Given the description of an element on the screen output the (x, y) to click on. 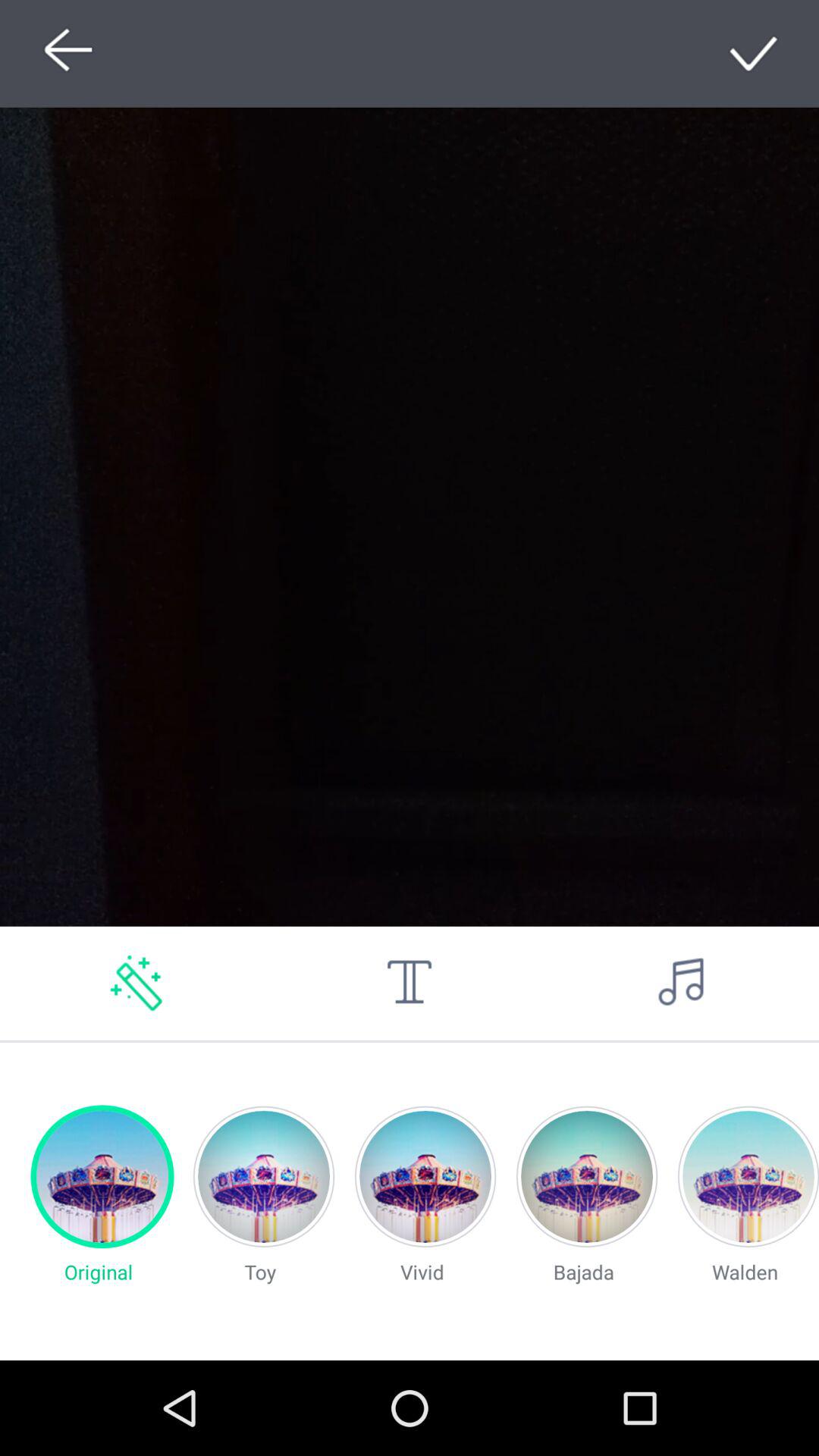
edit language (409, 983)
